Given the description of an element on the screen output the (x, y) to click on. 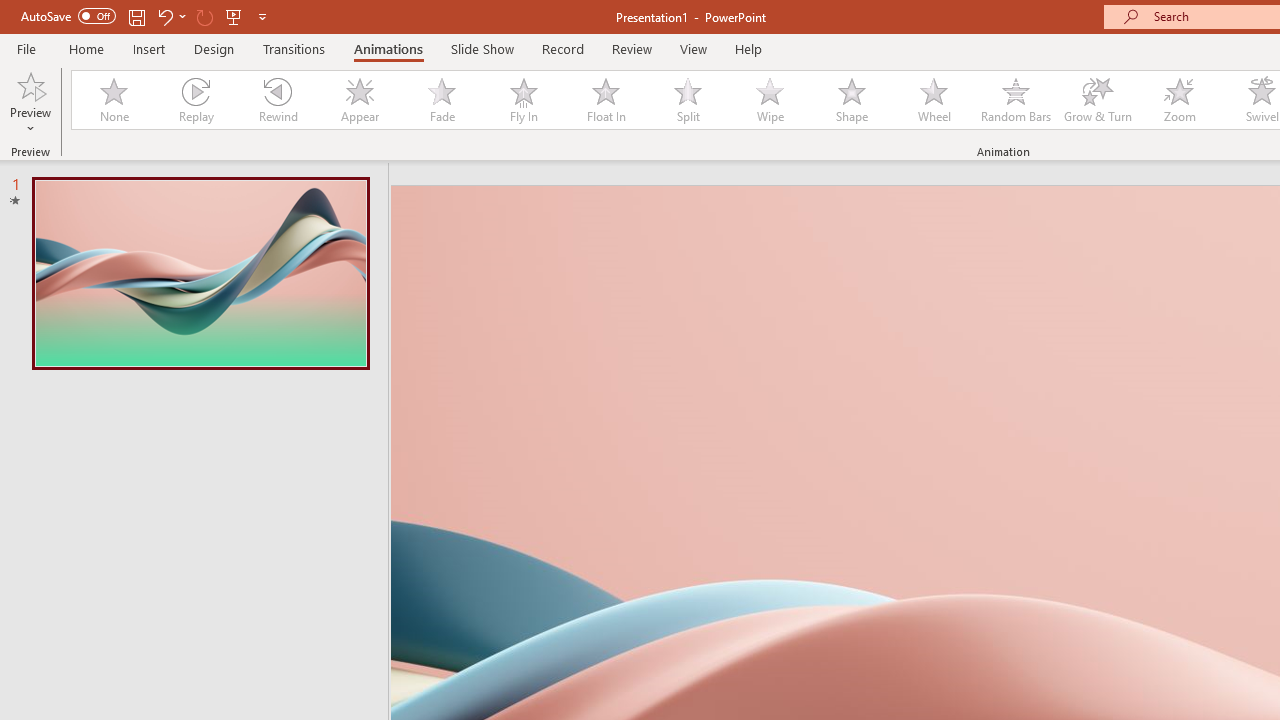
Replay (195, 100)
Float In (605, 100)
